Given the description of an element on the screen output the (x, y) to click on. 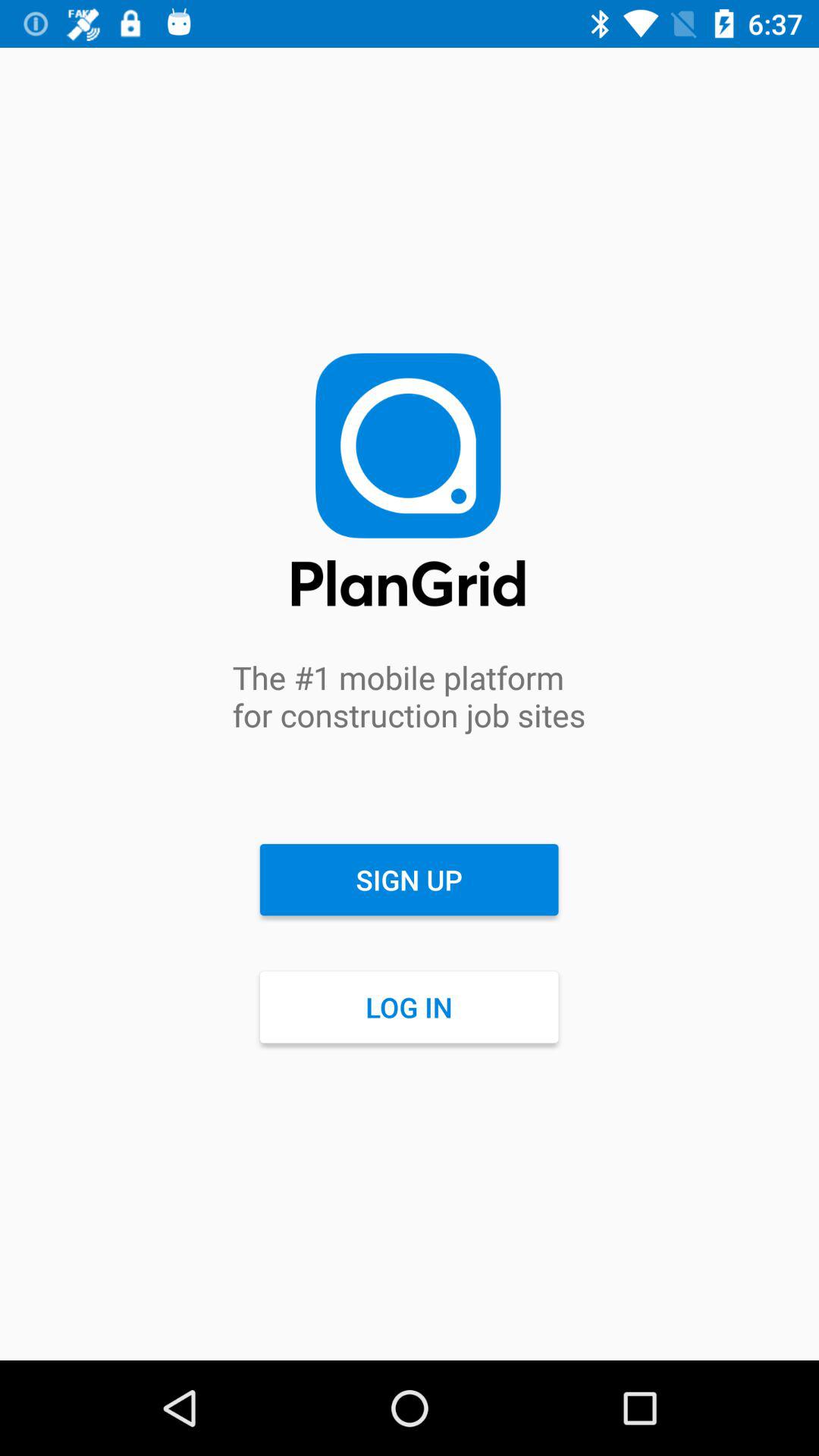
launch the sign up item (408, 879)
